Given the description of an element on the screen output the (x, y) to click on. 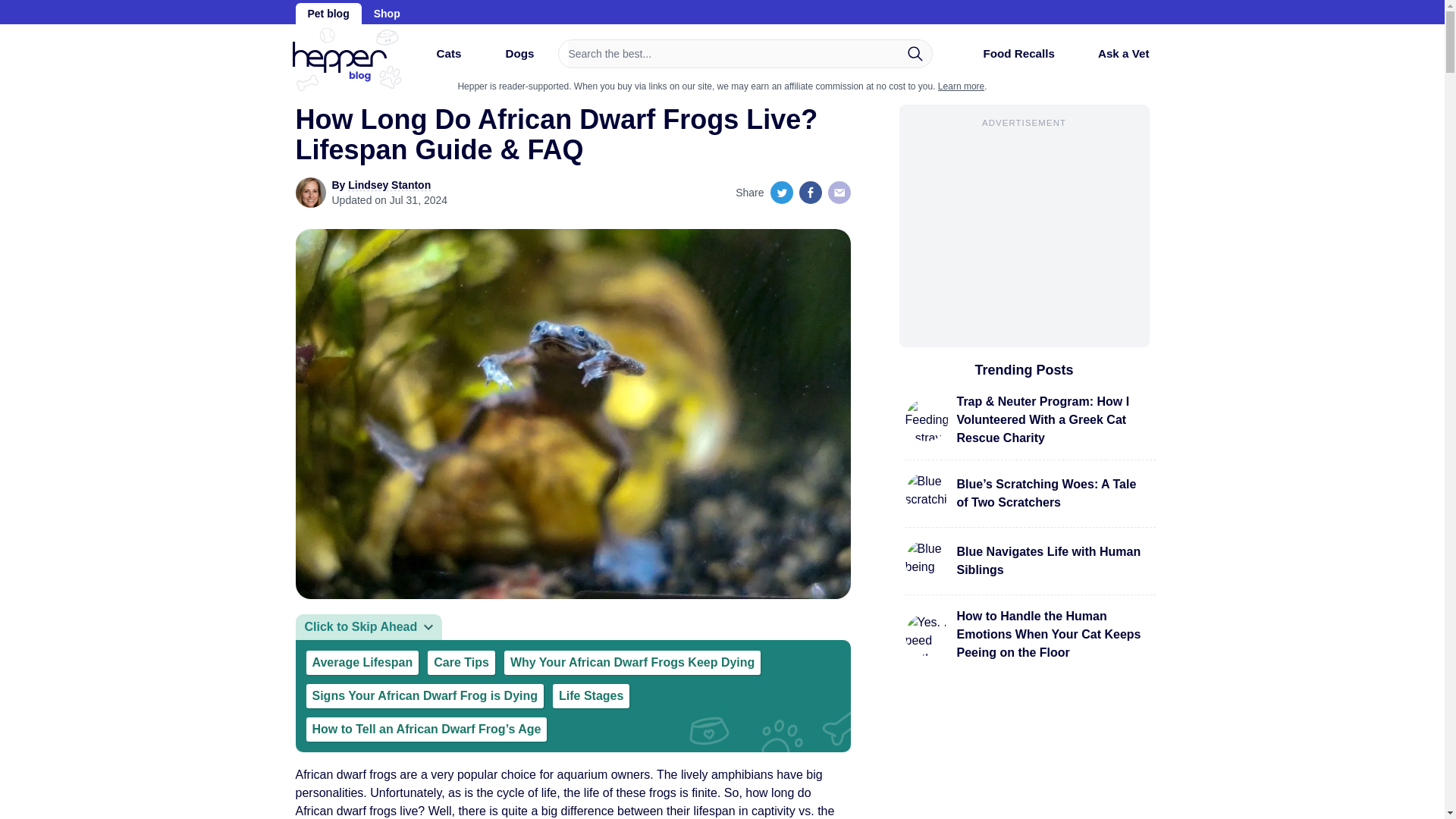
Ask a Vet (1111, 53)
Cats (435, 59)
Lindsey Stanton (388, 184)
Dogs (506, 59)
Signs Your African Dwarf Frog is Dying (424, 695)
Learn more (960, 86)
Life Stages (590, 695)
Care Tips (461, 662)
Why Your African Dwarf Frogs Keep Dying (631, 662)
Food Recalls (1005, 59)
